Given the description of an element on the screen output the (x, y) to click on. 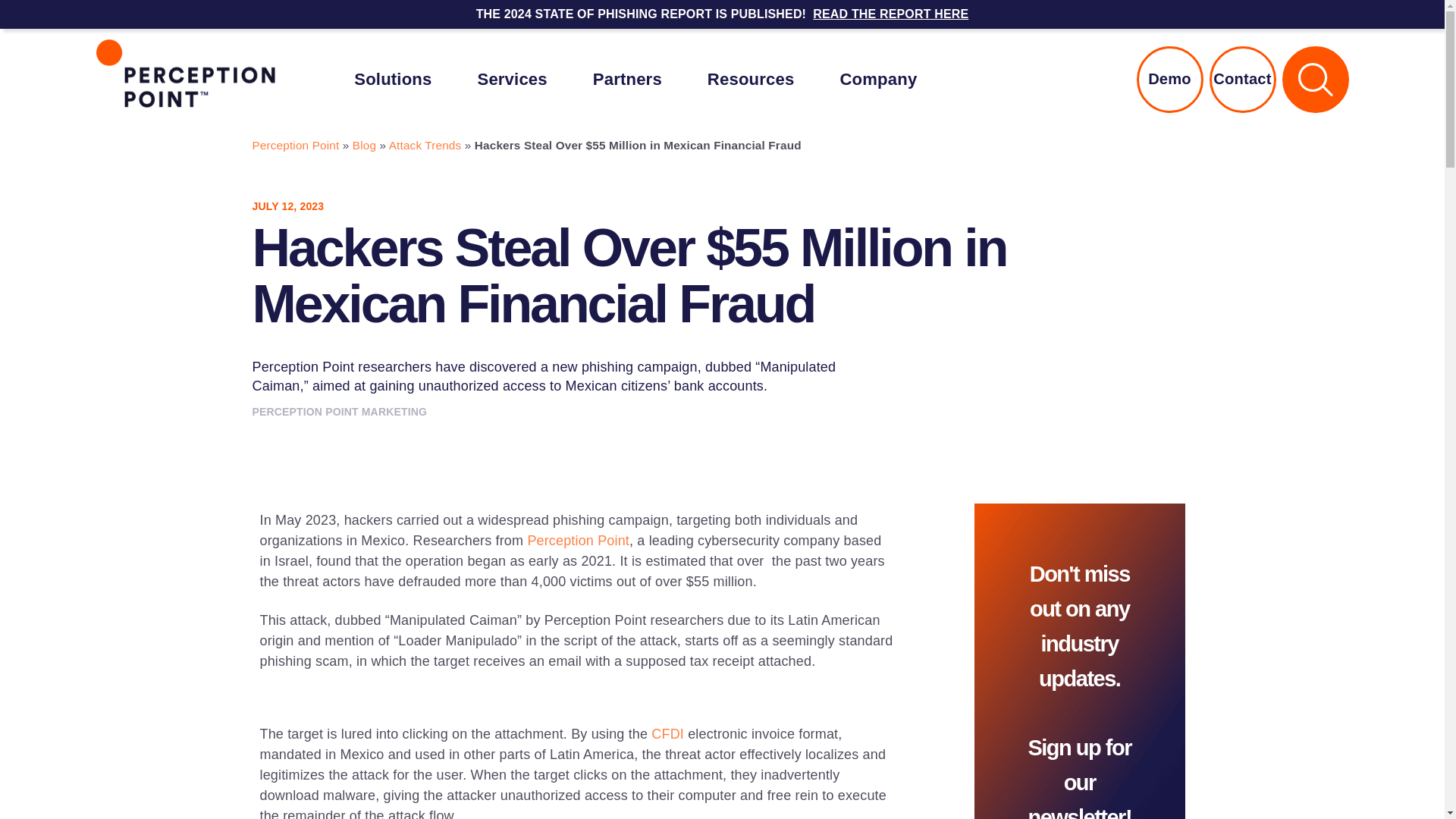
Solutions (391, 78)
READ THE REPORT HERE (890, 13)
